Given the description of an element on the screen output the (x, y) to click on. 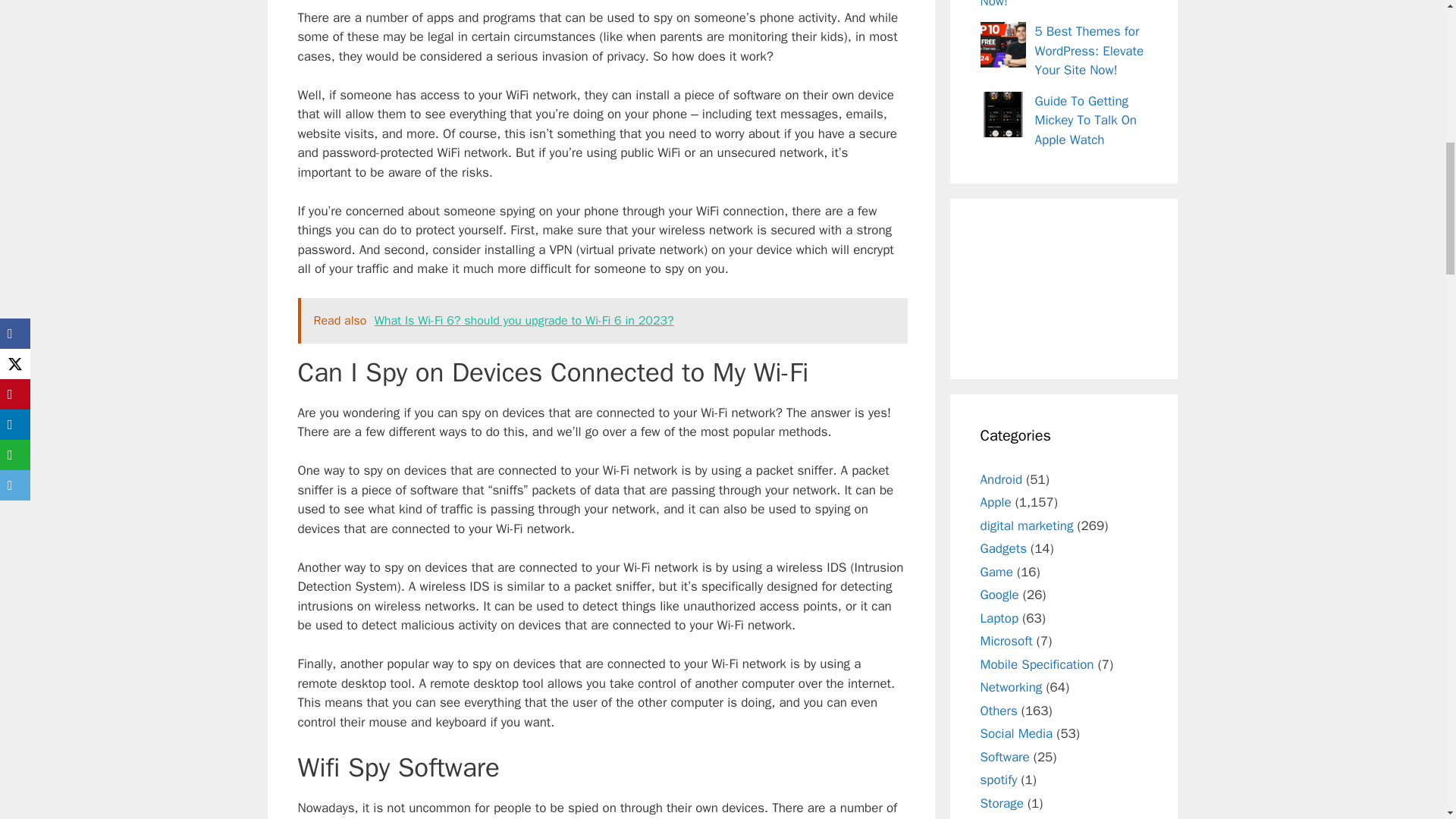
5 Best Themes for Affiliate Marketing: Boost Your Sales Now! (1059, 4)
Scroll back to top (1406, 720)
